Given the description of an element on the screen output the (x, y) to click on. 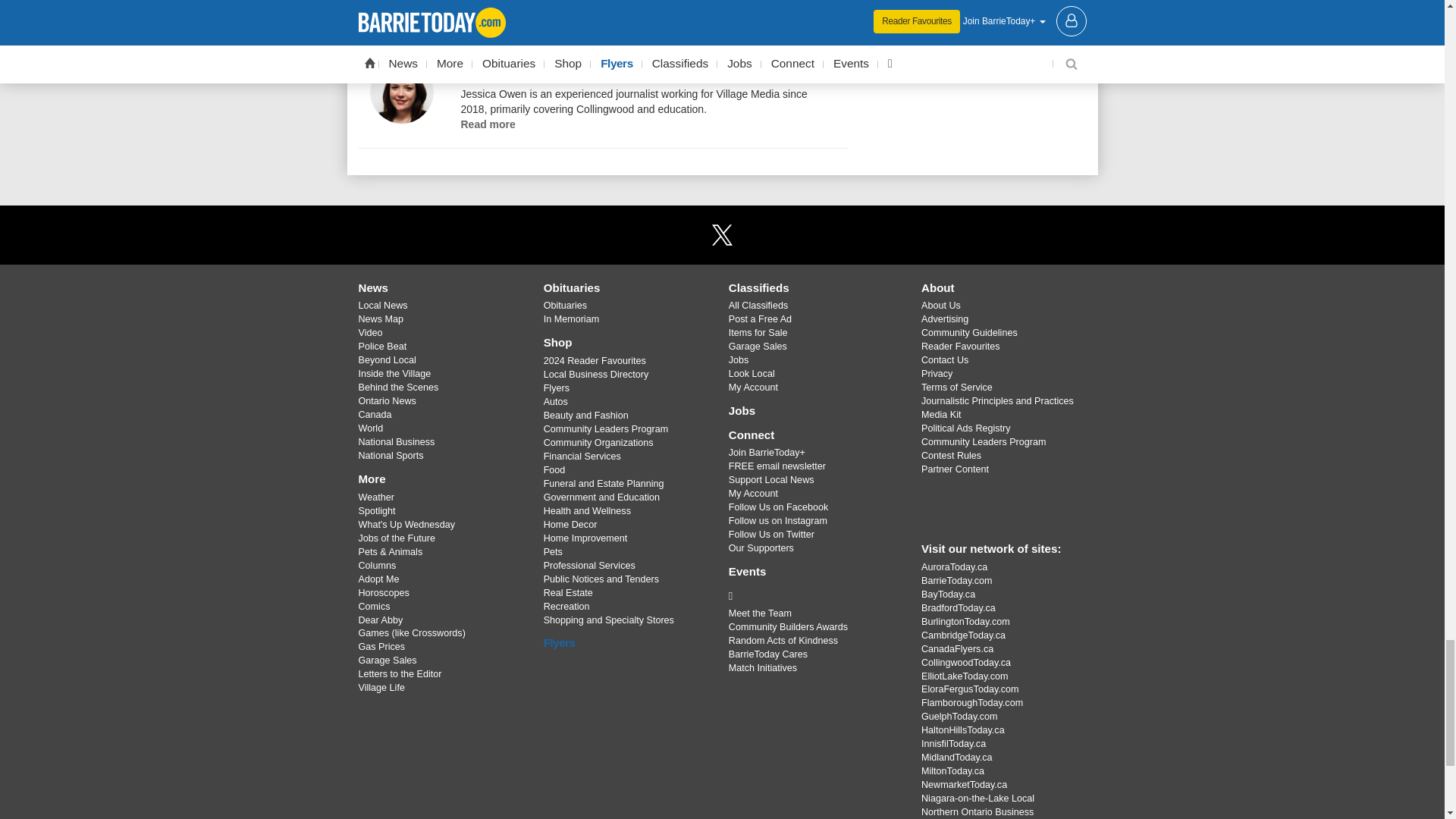
X (721, 234)
Facebook (683, 234)
BarrieToday Cares (813, 596)
Instagram (760, 234)
